Given the description of an element on the screen output the (x, y) to click on. 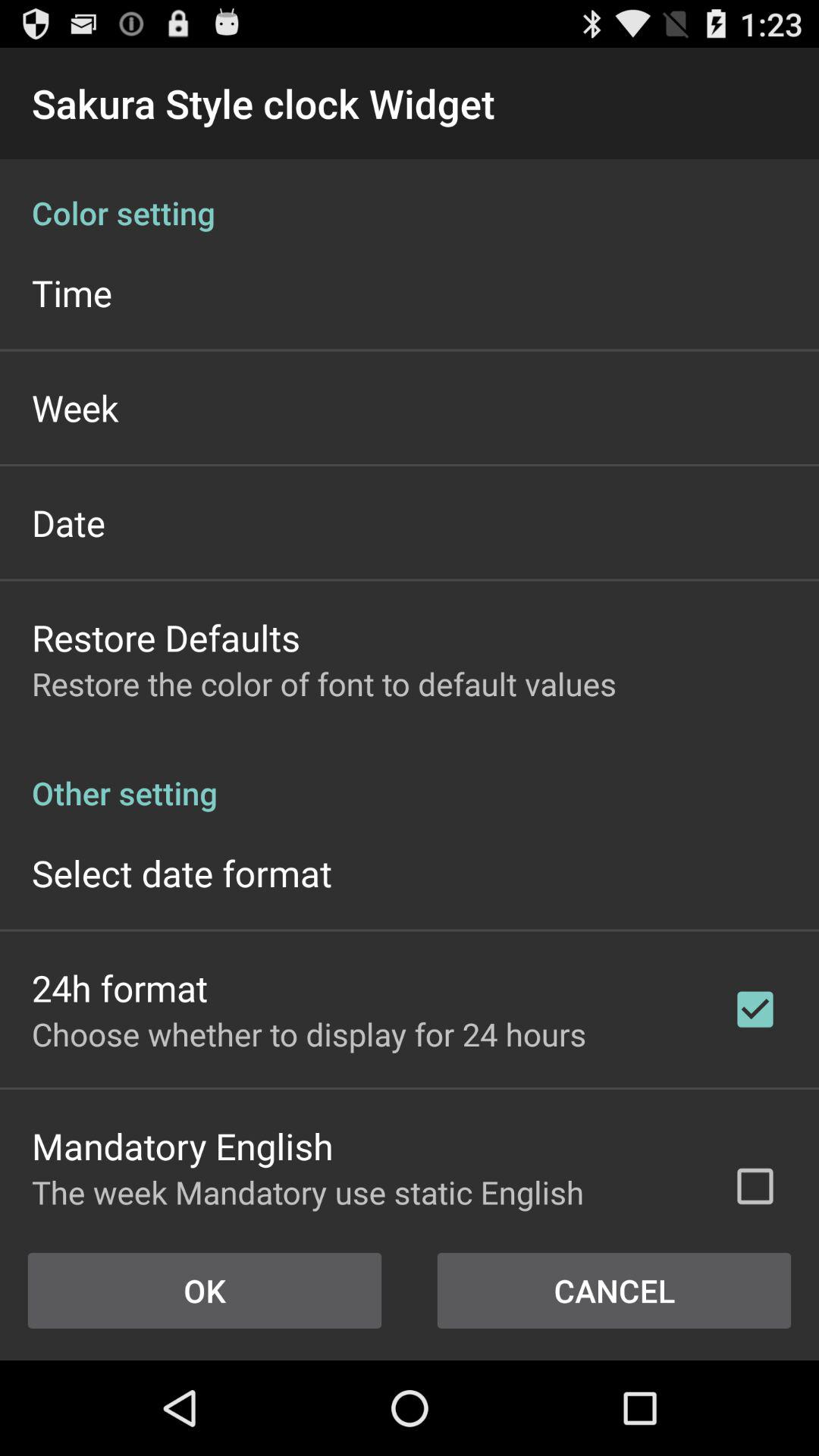
swipe until the other setting app (409, 776)
